Given the description of an element on the screen output the (x, y) to click on. 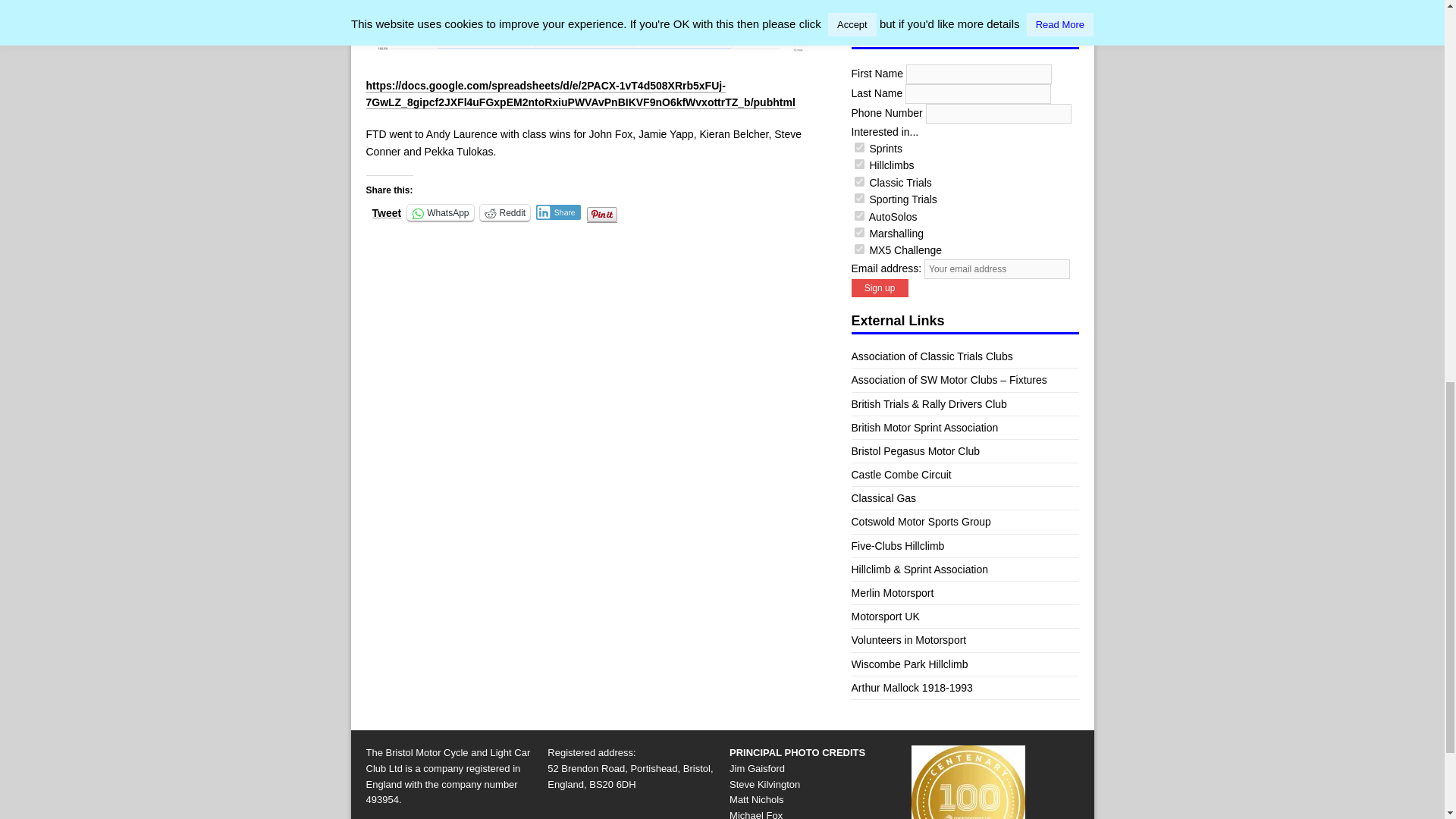
Sign up (878, 288)
66f313dd01 (858, 248)
Click to share on Reddit (504, 212)
d4f7bede38 (858, 198)
d5e759d779 (858, 163)
bbf20dee36 (858, 232)
Click to share on WhatsApp (440, 212)
1b3ba9a616 (858, 181)
cb7f0d87b8 (858, 147)
6f500b9921 (858, 215)
AJM Prestigious Motor Storage (956, 4)
